Given the description of an element on the screen output the (x, y) to click on. 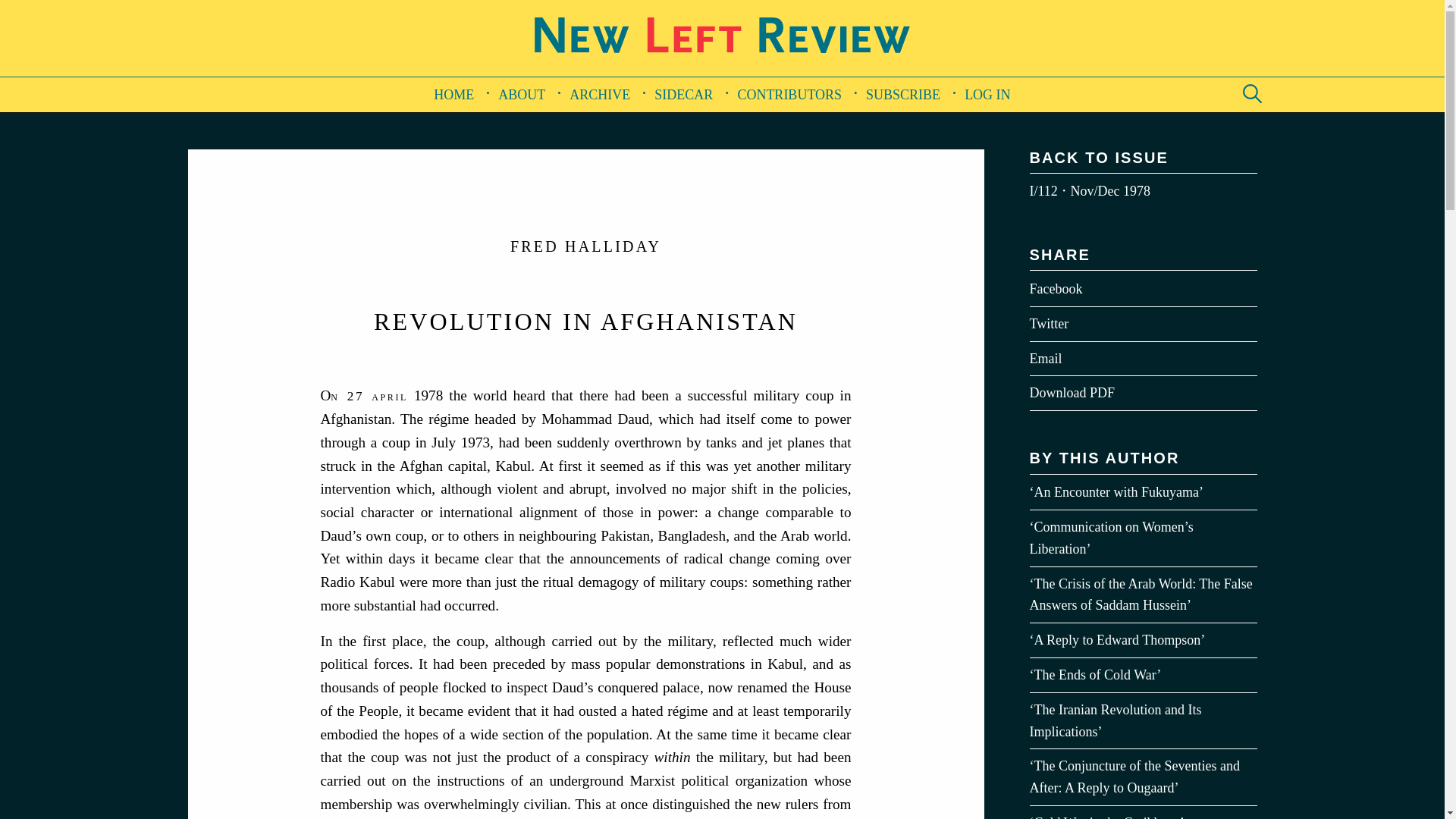
SIDECAR (683, 94)
HOME (454, 94)
Download PDF (1143, 392)
SUBSCRIBE (902, 94)
CONTRIBUTORS (789, 94)
Facebook (1143, 288)
LOG IN (987, 94)
Twitter (1143, 324)
Email (1143, 358)
ARCHIVE (599, 94)
ABOUT (521, 94)
NEW LEFT REVIEW (721, 65)
NEW LEFT REVIEW (722, 35)
